Given the description of an element on the screen output the (x, y) to click on. 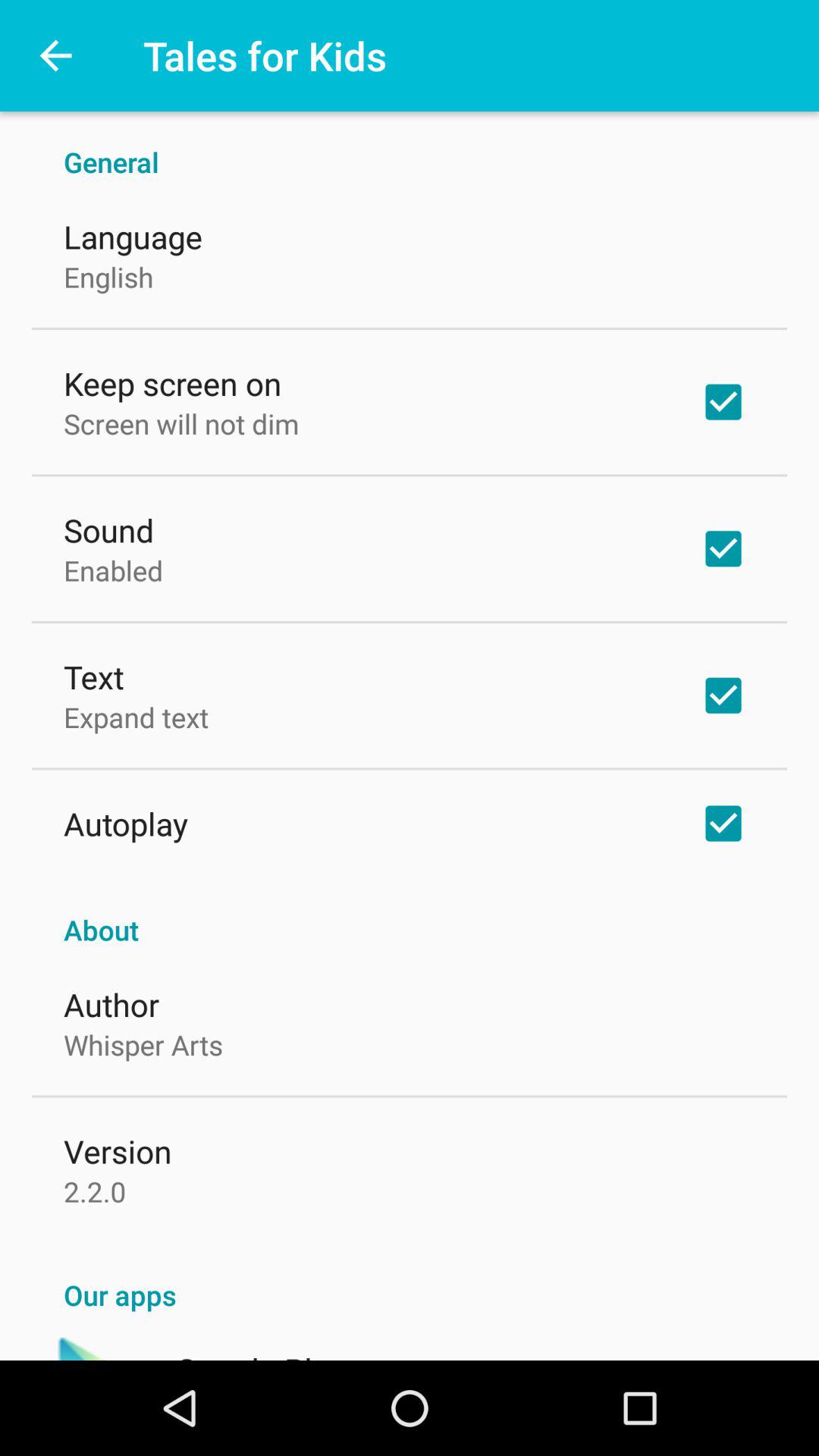
choose item below the author item (142, 1044)
